Given the description of an element on the screen output the (x, y) to click on. 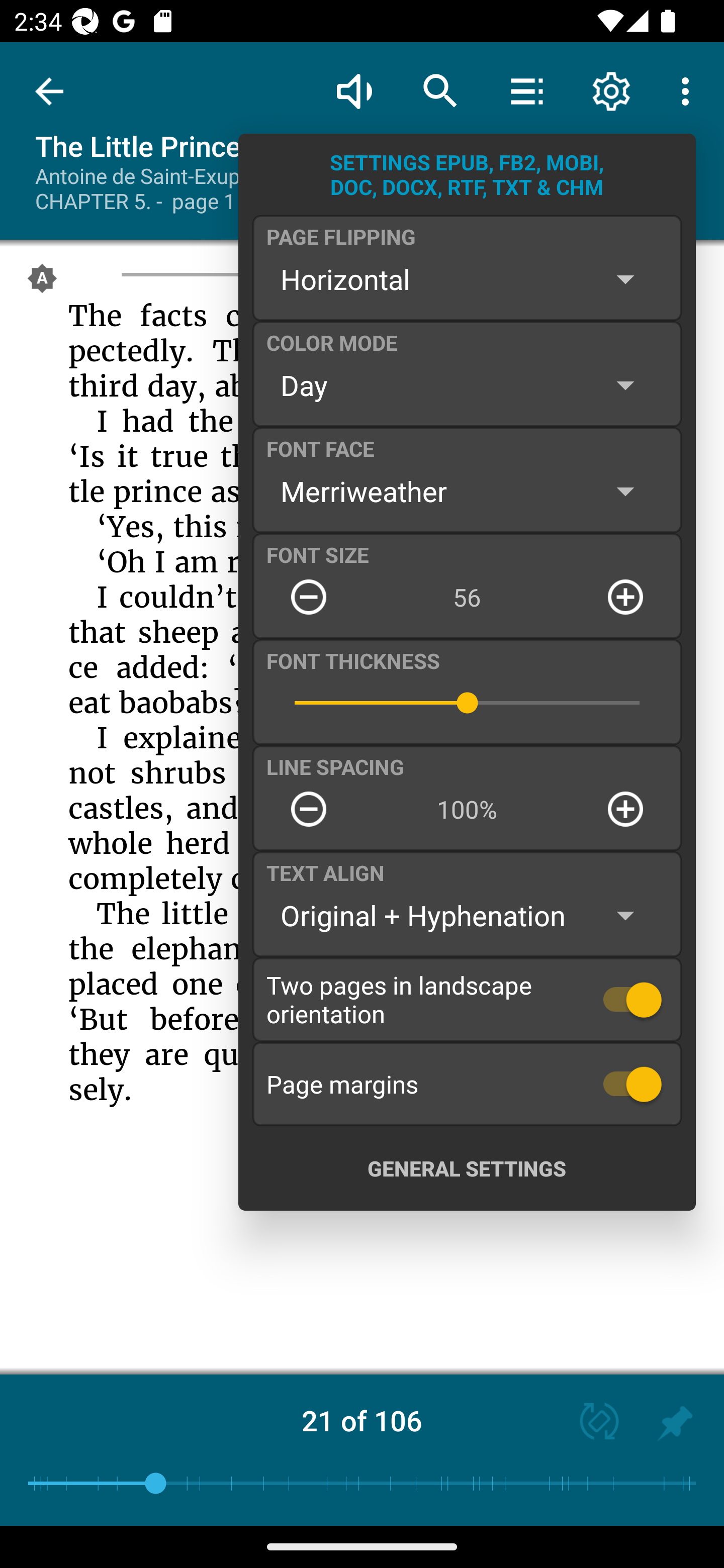
Horizontal (466, 278)
Day (466, 384)
Merriweather (466, 490)
Original + Hyphenation (466, 915)
Two pages in landscape orientation (467, 999)
Page margins (467, 1083)
GENERAL SETTINGS (466, 1167)
